Given the description of an element on the screen output the (x, y) to click on. 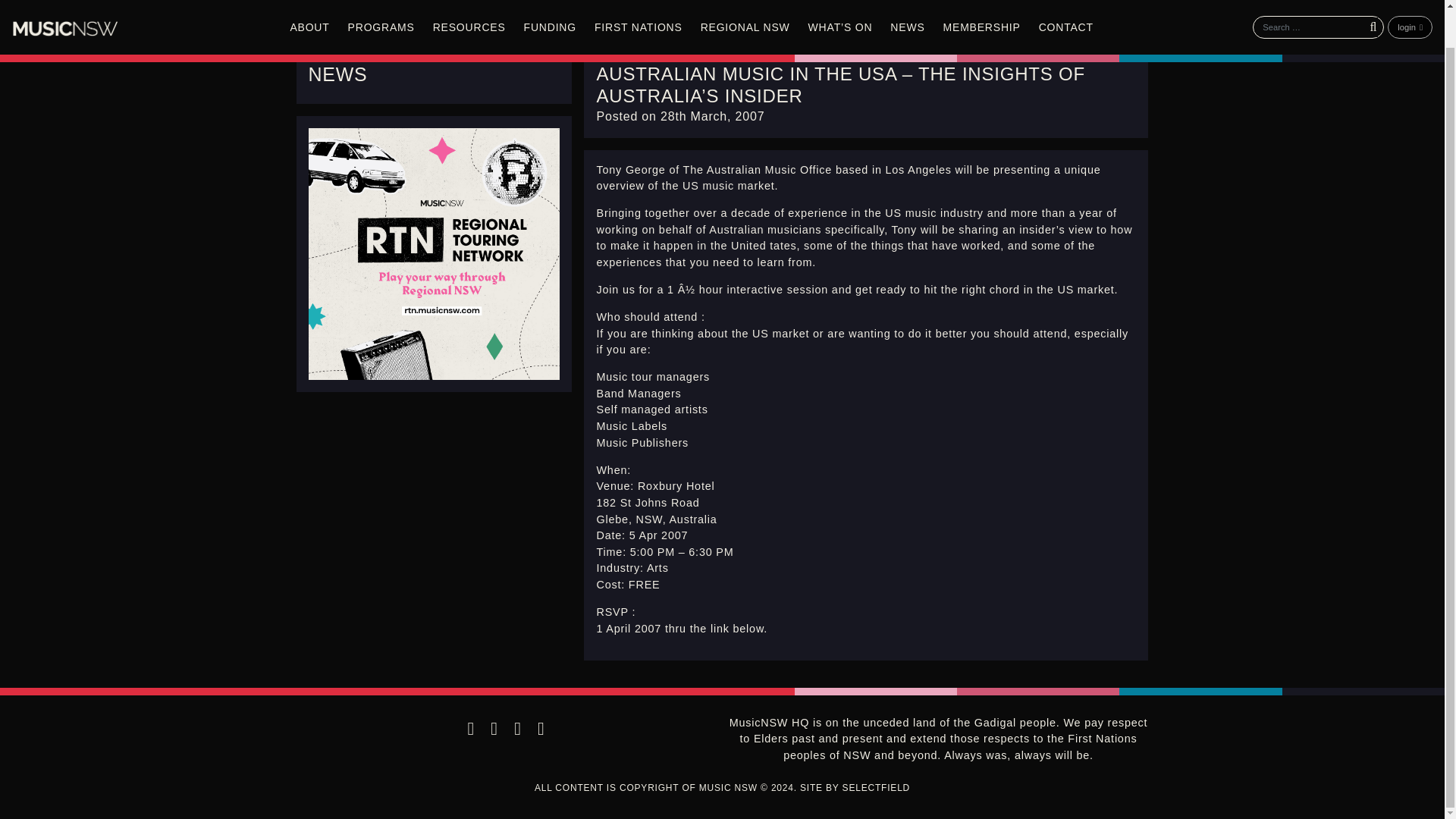
Funding (550, 1)
MEMBERSHIP (981, 1)
NEWS (336, 74)
NEWS (906, 1)
Membership (981, 1)
FUNDING (550, 1)
RESOURCES (469, 1)
FIRST NATIONS (638, 1)
News (906, 1)
Regional NSW (745, 1)
Programs (381, 1)
ABOUT (309, 1)
SELECTFIELD (877, 787)
About (309, 1)
28th March, 2007 (712, 115)
